Given the description of an element on the screen output the (x, y) to click on. 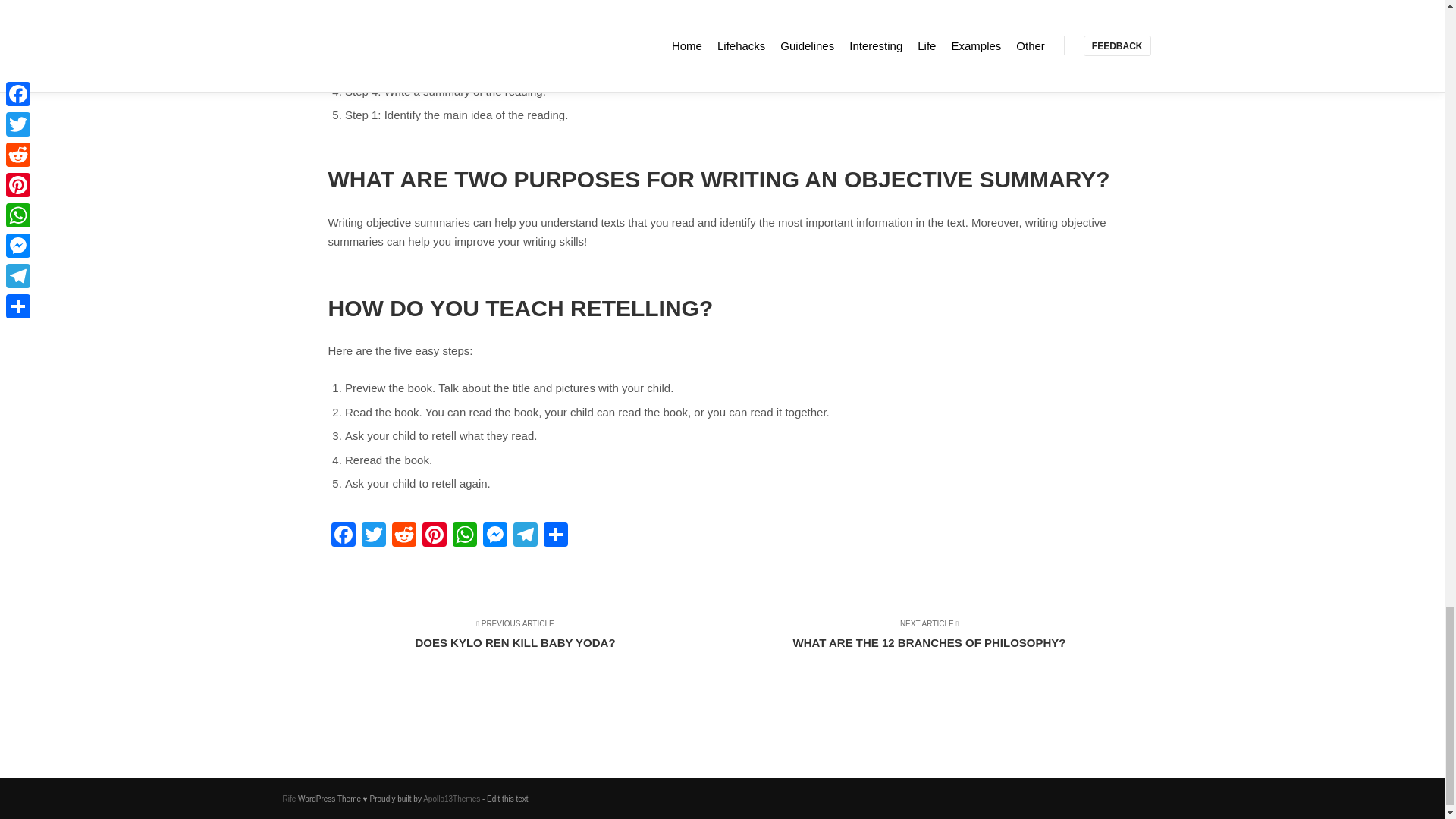
Pinterest (433, 536)
Facebook (342, 536)
Messenger (919, 641)
Apollo13Themes (494, 536)
Twitter (451, 798)
Messenger (373, 536)
Reddit (494, 536)
WhatsApp (403, 536)
Telegram (463, 536)
Twitter (524, 536)
Rife (373, 536)
Reddit (288, 798)
Facebook (403, 536)
Pinterest (342, 536)
